Given the description of an element on the screen output the (x, y) to click on. 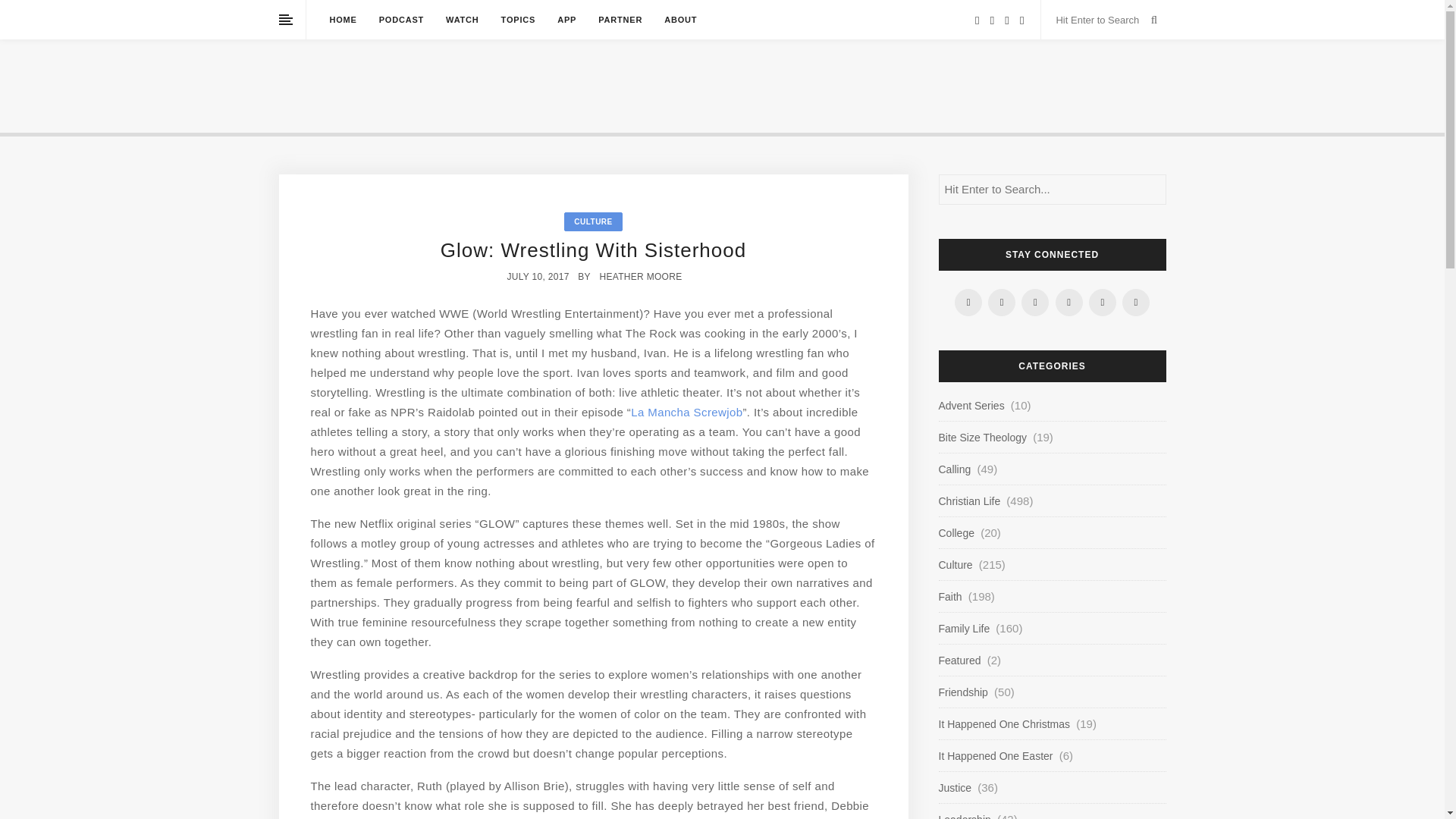
TOPICS (517, 19)
Hit Enter to Search (1099, 20)
PODCAST (400, 19)
PARTNER (620, 19)
WATCH (462, 19)
HOME (342, 19)
Hit Enter to Search (1099, 20)
APP (566, 19)
